Given the description of an element on the screen output the (x, y) to click on. 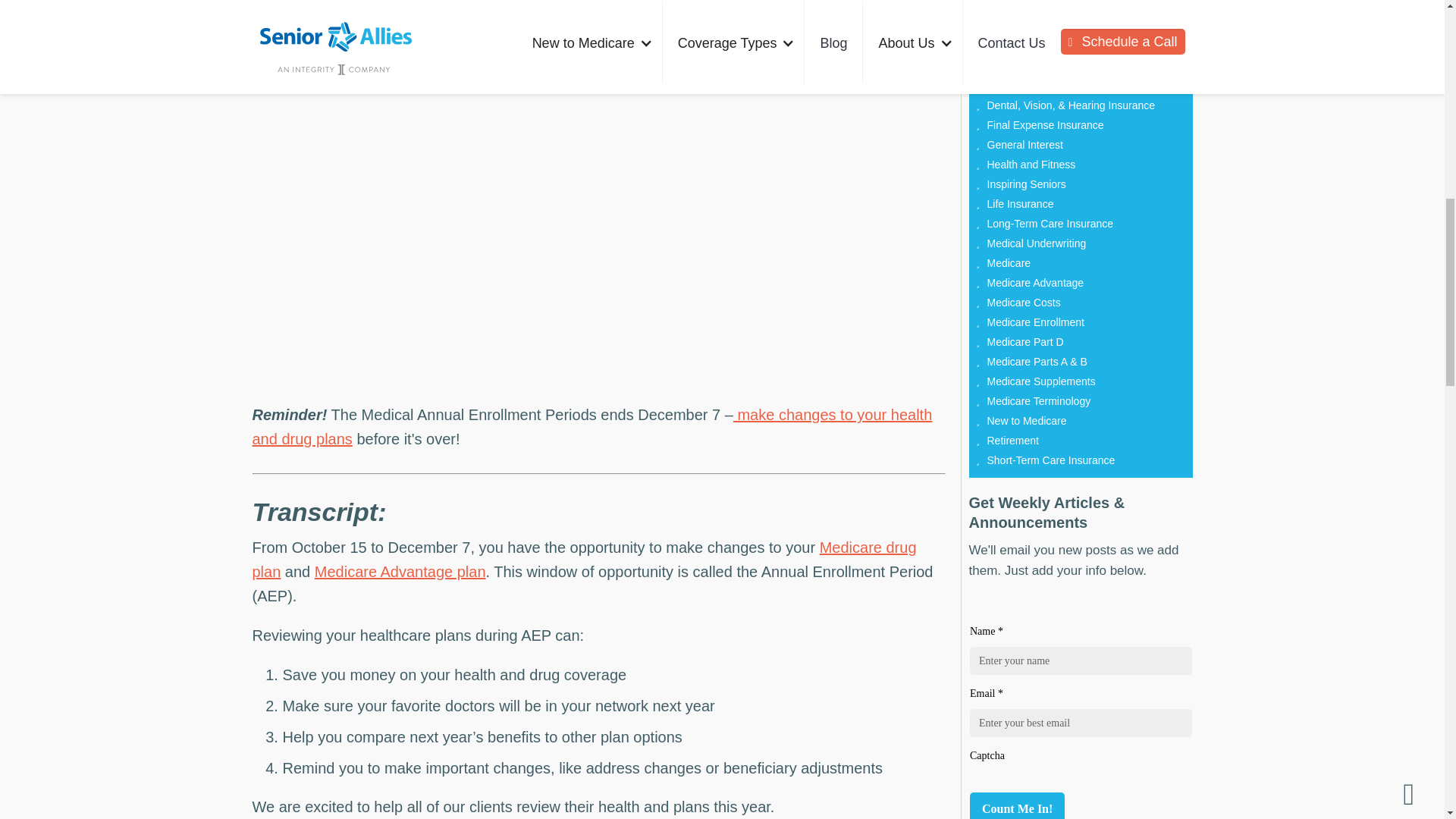
Medicare Advantage plan (400, 571)
Medicare drug plan (583, 558)
make changes to your health and drug plans (591, 426)
Announcements (1025, 6)
